Given the description of an element on the screen output the (x, y) to click on. 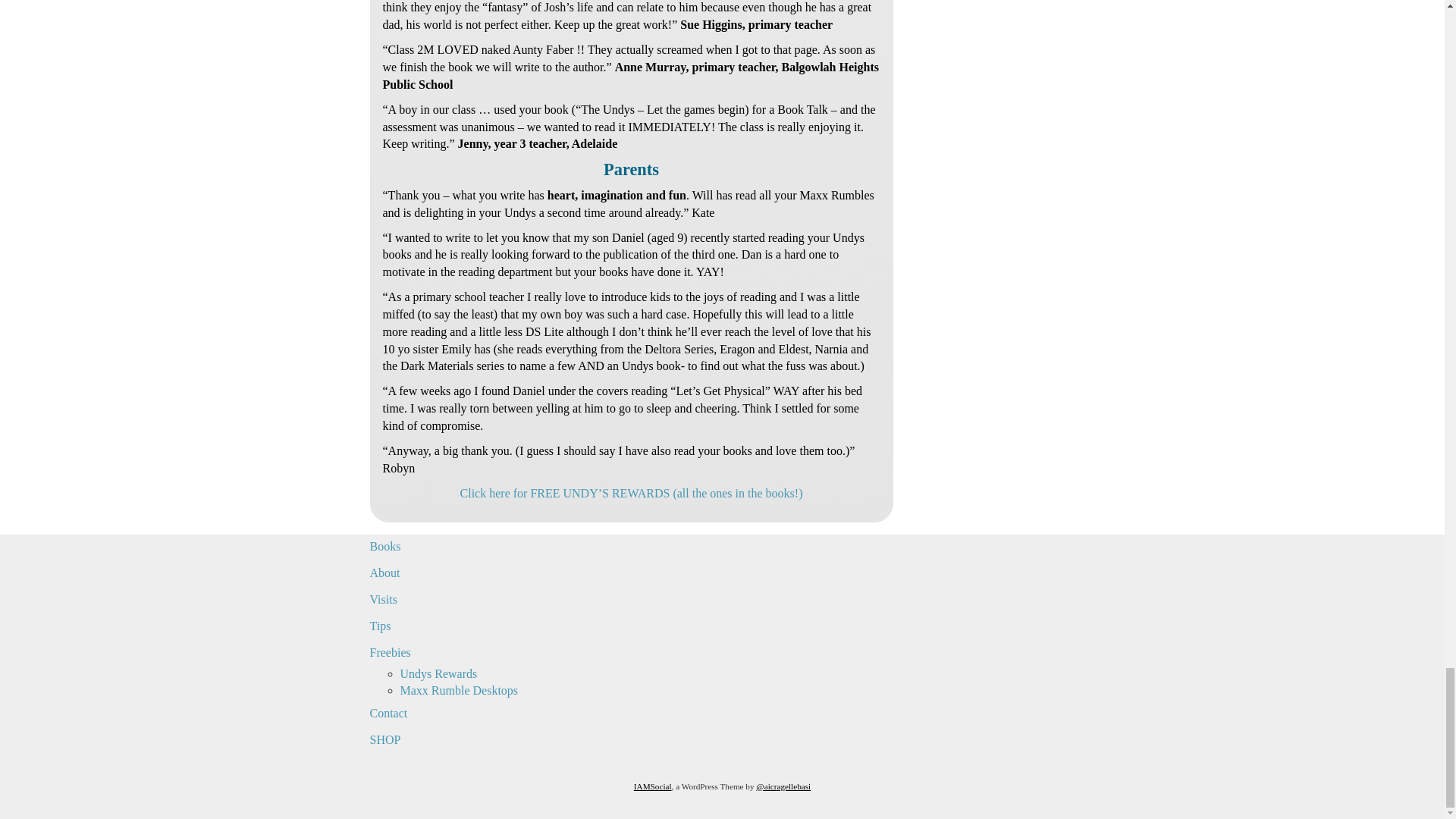
SHOP (479, 740)
How to book a visit from Michael  (479, 600)
Visits (479, 600)
About (479, 573)
Freebies (479, 652)
Contact (479, 713)
Free Undys Rewards (631, 492)
Undys Rewards (438, 673)
IAMSocial (652, 786)
Tips (479, 626)
Maxx Rumble Desktops (459, 690)
Books (479, 546)
